Given the description of an element on the screen output the (x, y) to click on. 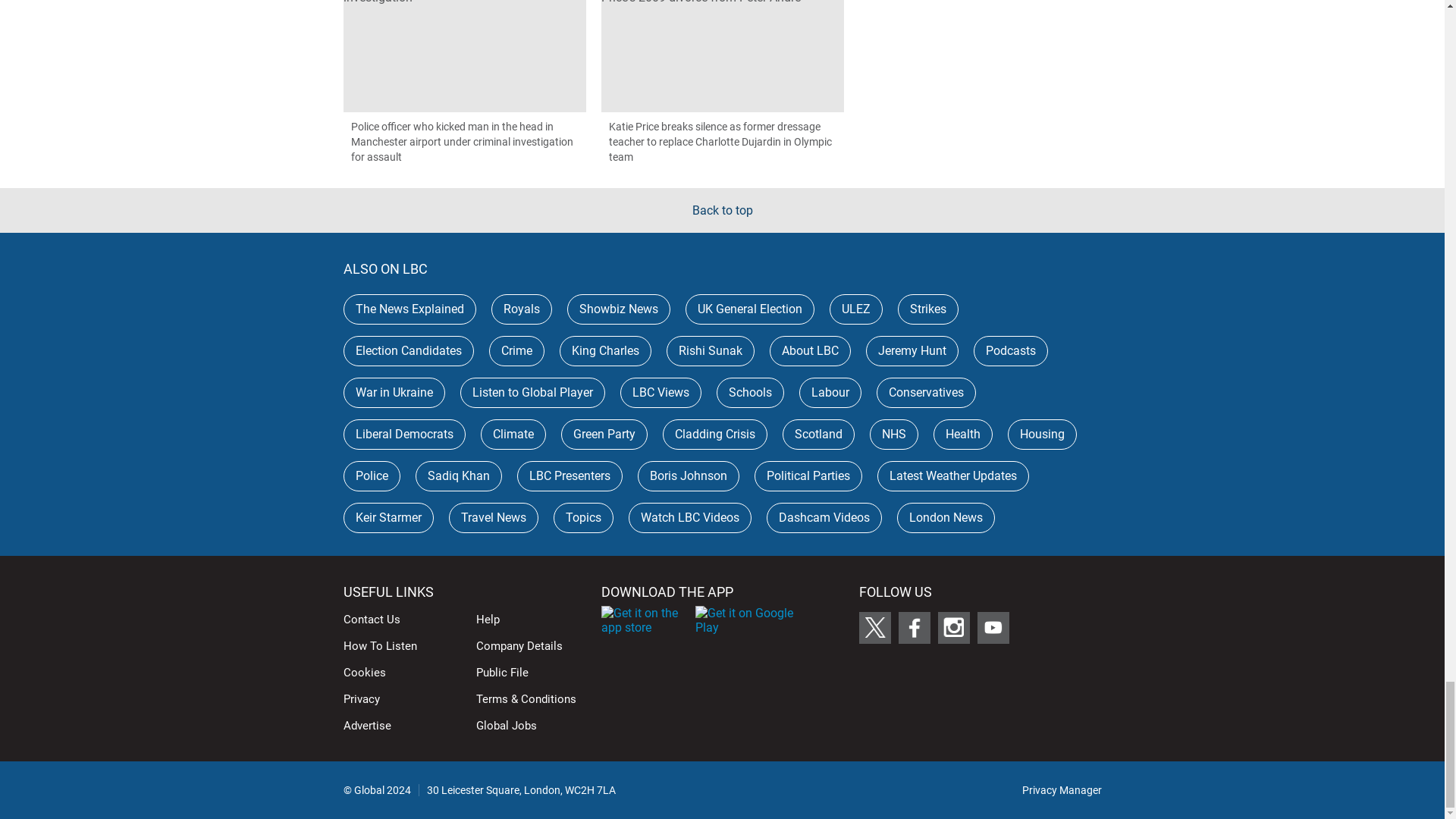
Follow LBC on Youtube (992, 627)
Back to top (721, 210)
Follow LBC on Facebook (914, 627)
Follow LBC on X (874, 627)
Follow LBC on Instagram (953, 627)
